Given the description of an element on the screen output the (x, y) to click on. 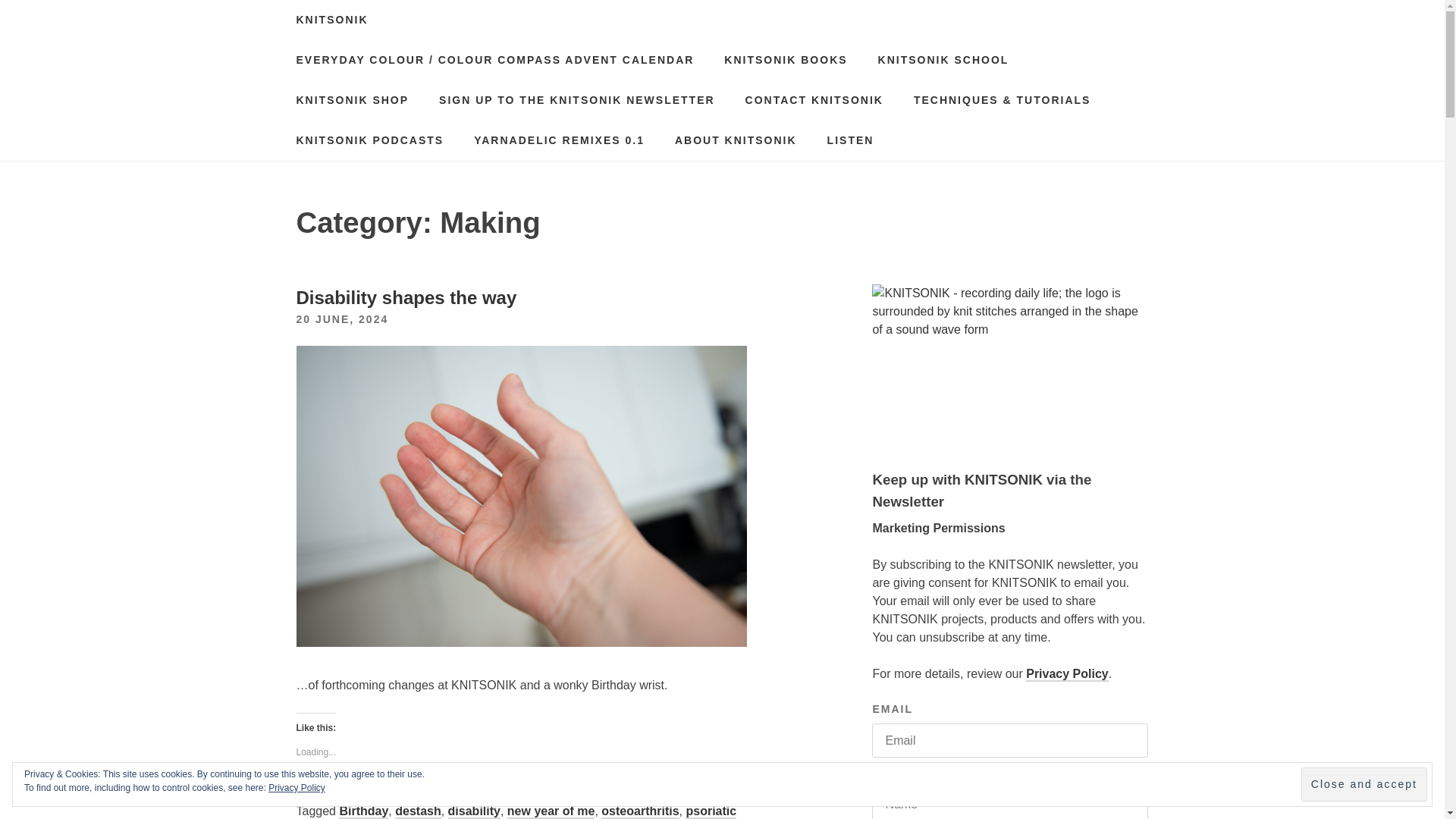
osteoarthritis (639, 811)
KNITSONIK (331, 20)
CONTACT KNITSONIK (814, 100)
new year of me (550, 811)
ABOUT KNITSONIK (735, 140)
disability (474, 811)
KNITSONIK PODCASTS (369, 140)
KNITSONIK SHOP (352, 100)
KNITSONIK SCHOOL (944, 60)
Making (484, 793)
